Given the description of an element on the screen output the (x, y) to click on. 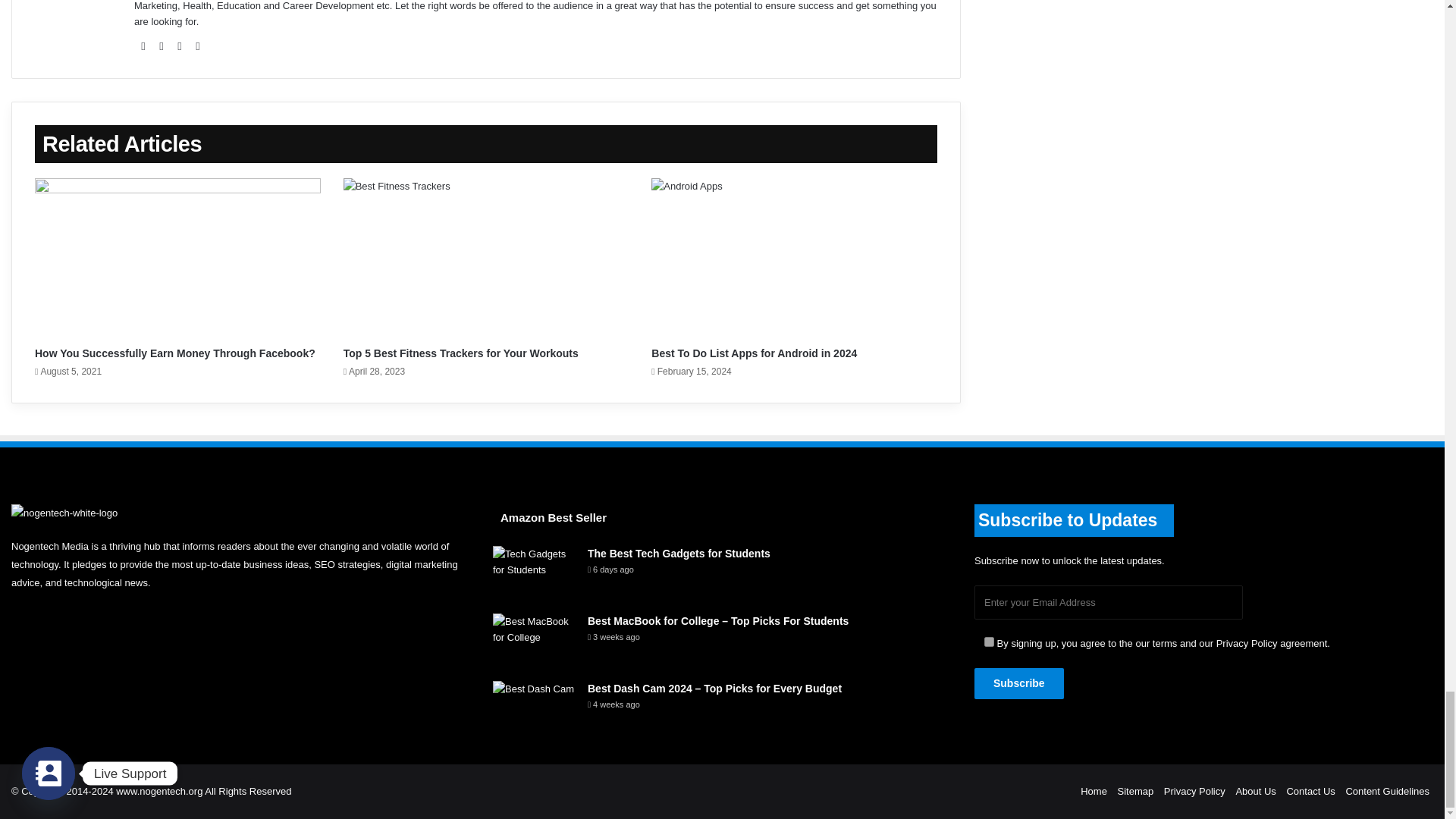
Subscribe (1019, 683)
